Given the description of an element on the screen output the (x, y) to click on. 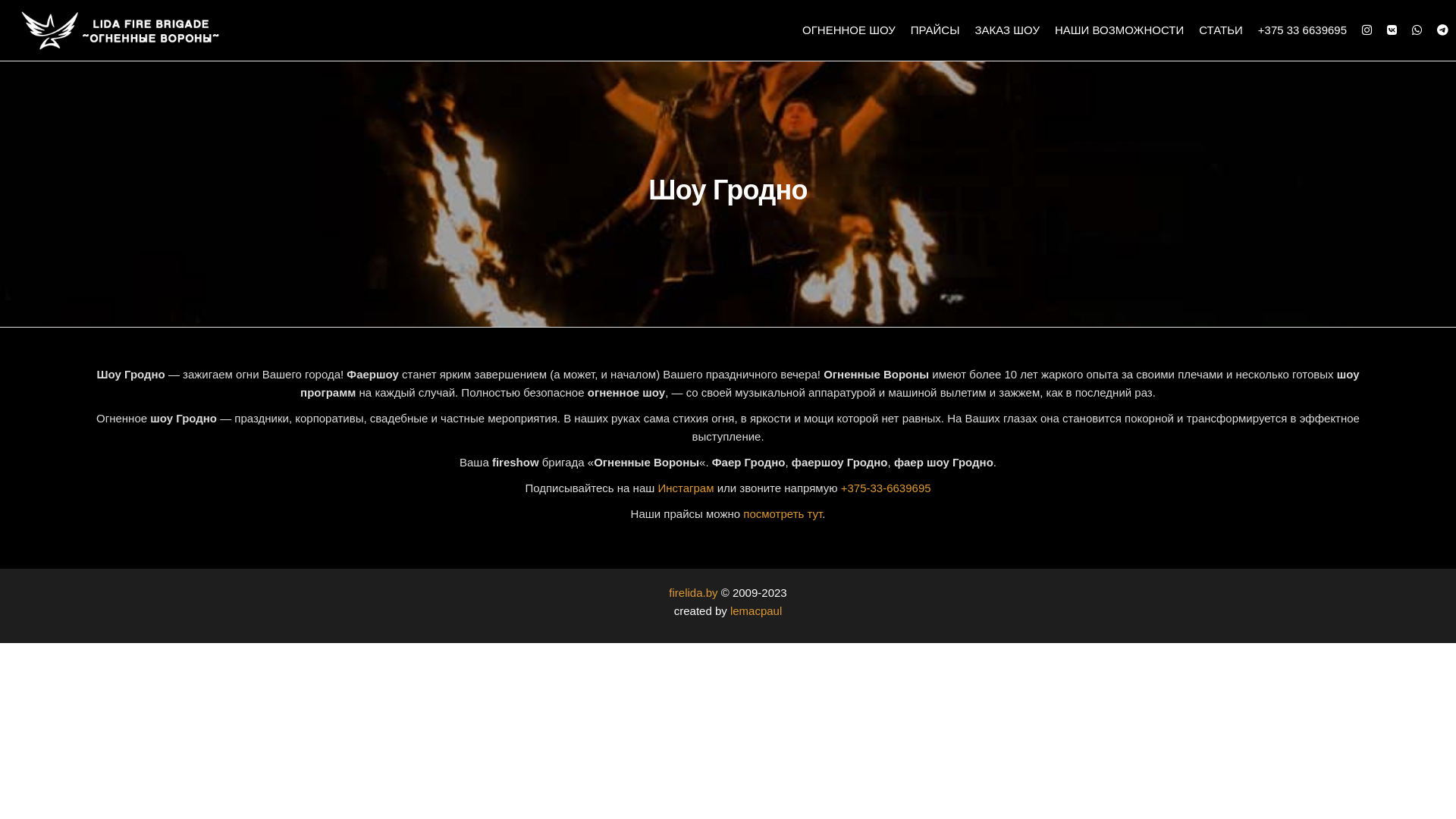
firelida.by Element type: text (692, 592)
VK Element type: text (1391, 30)
+375 33 6639695 Element type: text (1302, 30)
+375-33-6639695 Element type: text (885, 487)
VIBER Element type: text (1416, 30)
INSTAGRAM Element type: text (1366, 30)
lemacpaul Element type: text (755, 610)
